Given the description of an element on the screen output the (x, y) to click on. 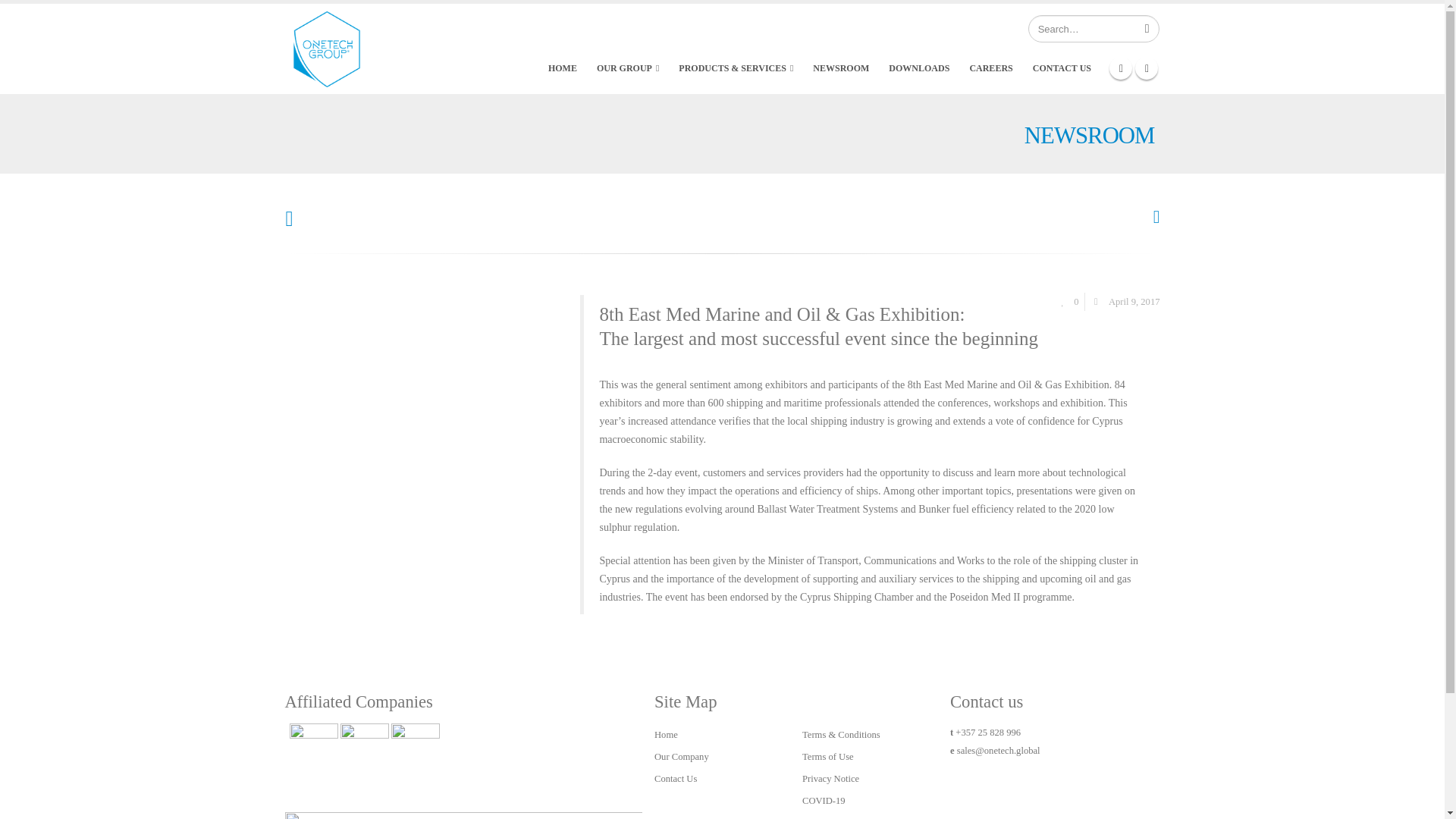
CAREERS (990, 67)
Contact Us (896, 28)
HOME (562, 67)
OneTech - Driven.  Determined.  Dynamic (326, 48)
OUR GROUP (628, 67)
Search (1146, 28)
LinkedIn (1146, 67)
DOWNLOADS (918, 67)
NEWSROOM (840, 67)
Facebook (1120, 67)
